Given the description of an element on the screen output the (x, y) to click on. 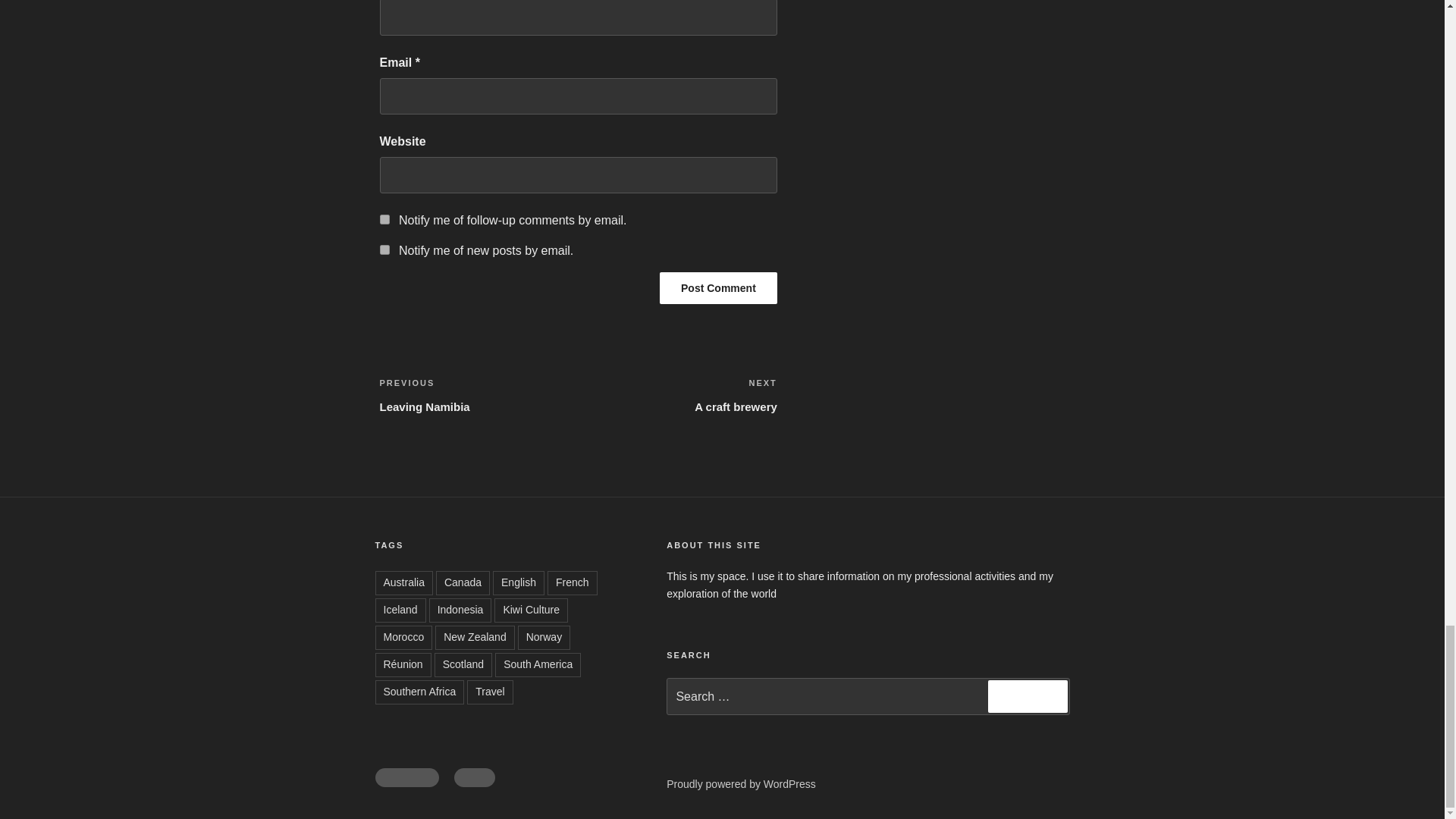
Post Comment (478, 394)
Post Comment (718, 287)
subscribe (718, 287)
subscribe (383, 249)
